Given the description of an element on the screen output the (x, y) to click on. 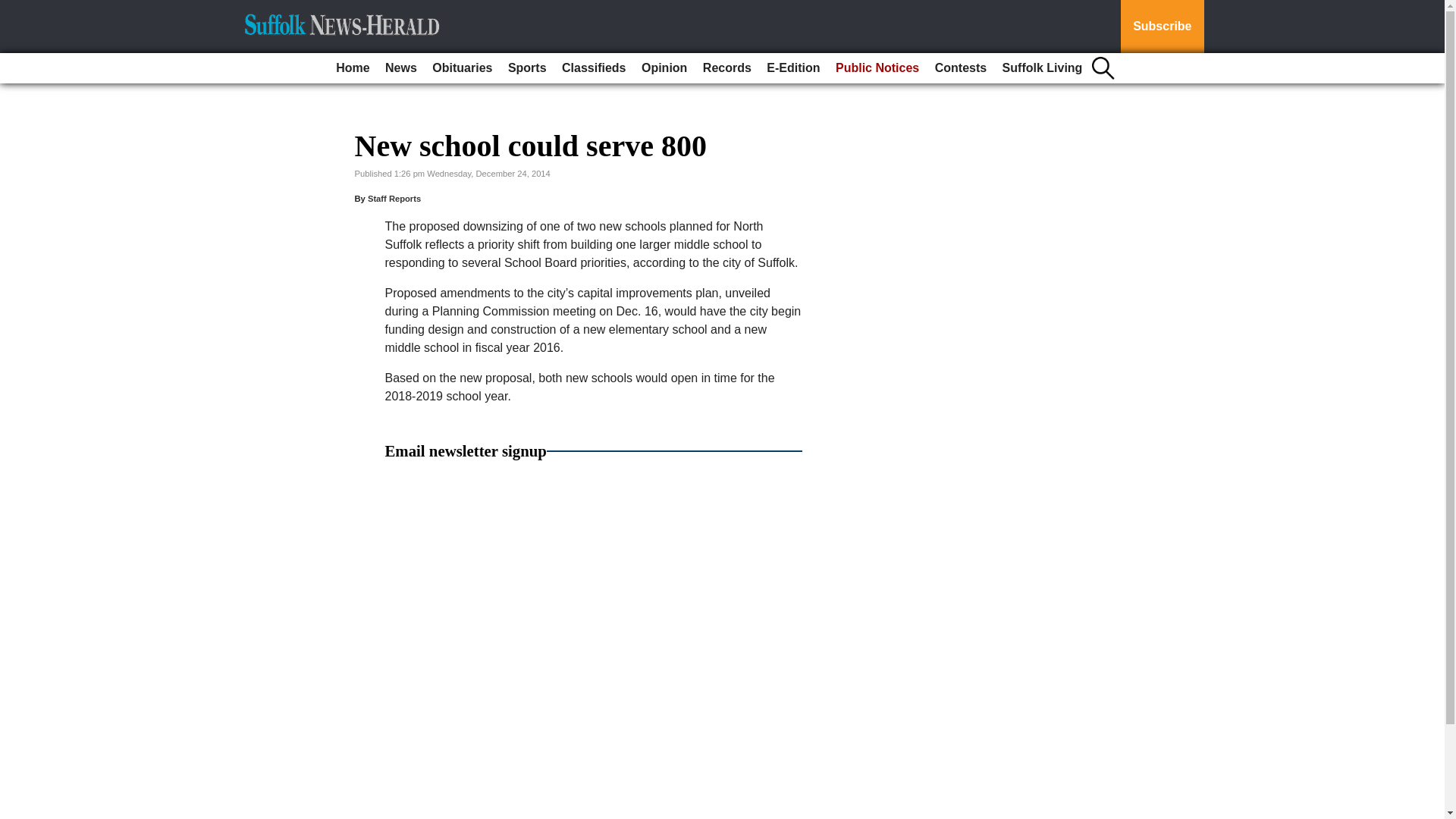
Opinion (663, 68)
Go (13, 9)
Public Notices (876, 68)
Classifieds (593, 68)
Records (727, 68)
E-Edition (792, 68)
Contests (960, 68)
Subscribe (1162, 26)
Home (352, 68)
Suffolk Living (1042, 68)
News (400, 68)
Staff Reports (394, 198)
Obituaries (461, 68)
Sports (527, 68)
